Given the description of an element on the screen output the (x, y) to click on. 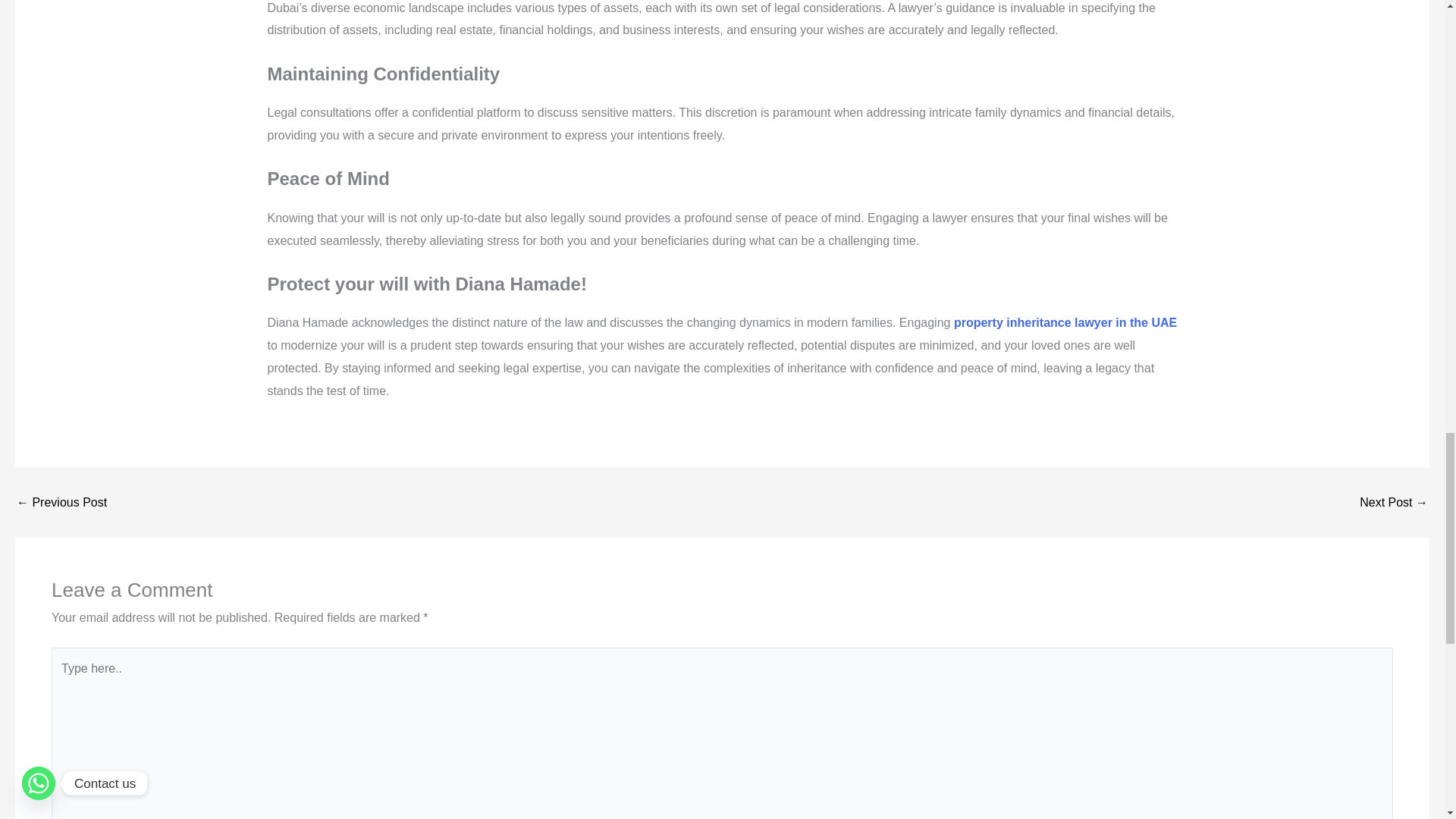
Careful Child Relocation Profile and Blog (61, 502)
property inheritance lawyer in the UAE (1064, 322)
